Given the description of an element on the screen output the (x, y) to click on. 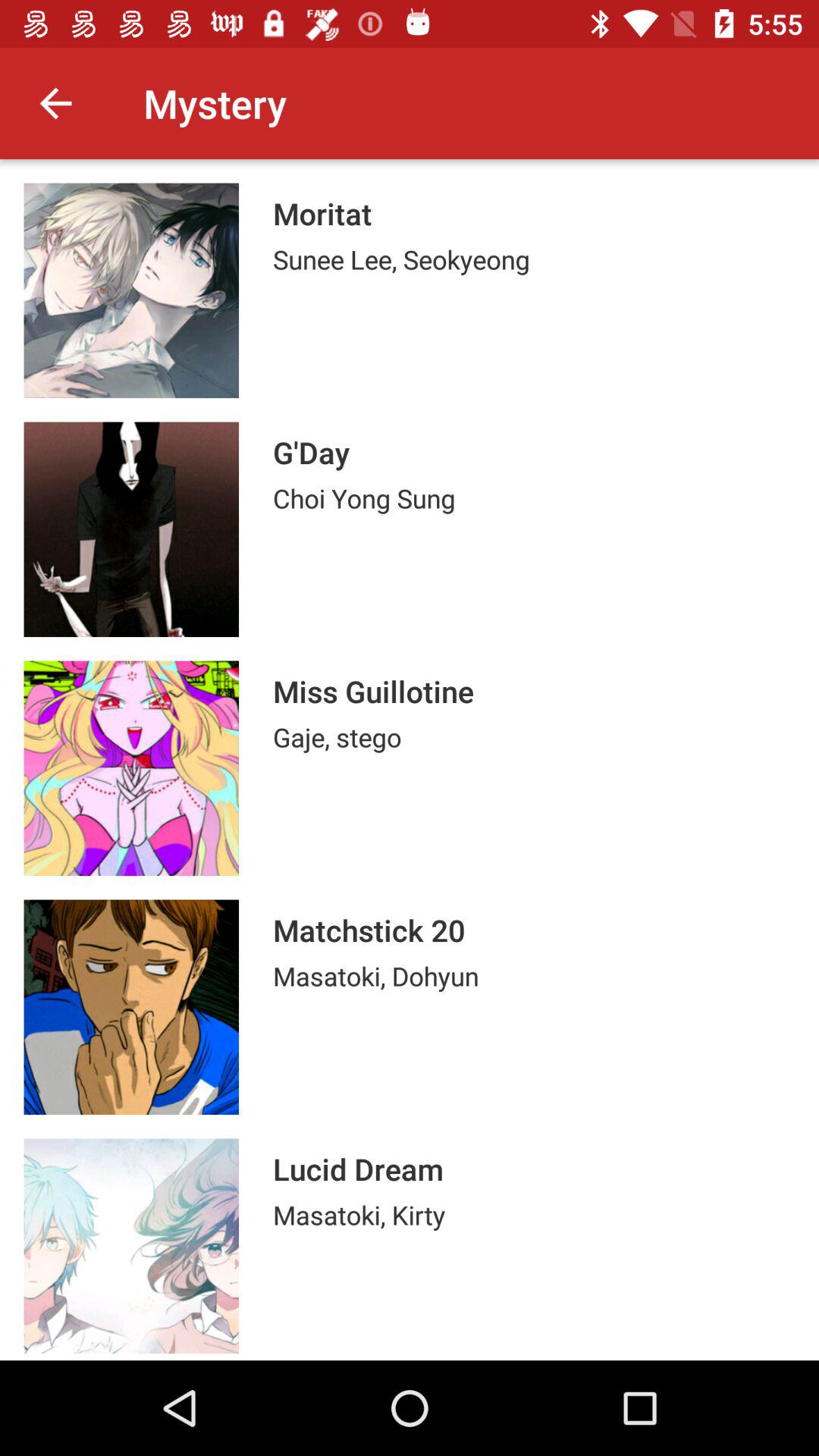
open icon to the left of mystery icon (55, 103)
